Given the description of an element on the screen output the (x, y) to click on. 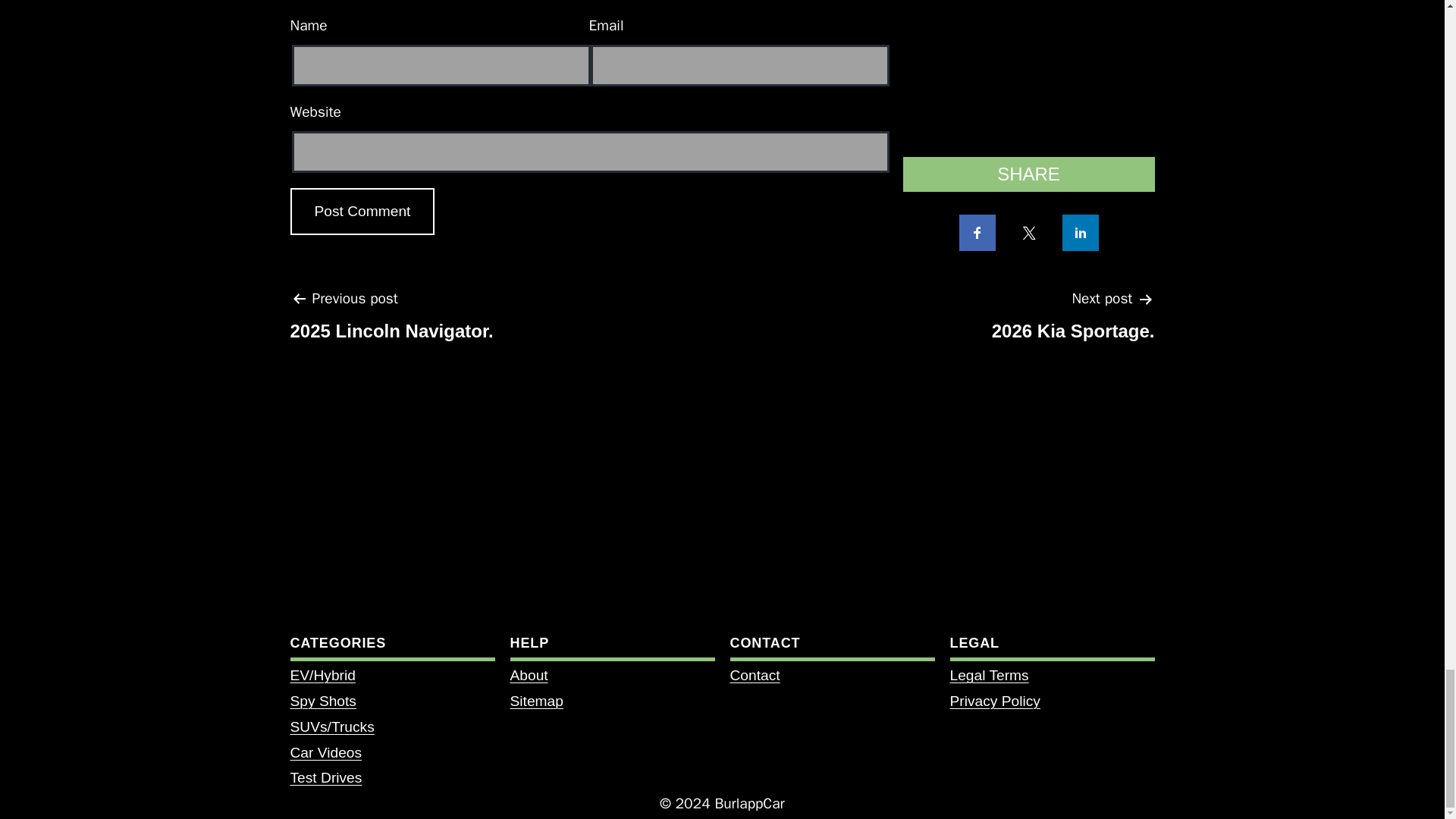
Spy Shots (322, 700)
Car Videos (325, 752)
Car Videos (325, 752)
Post Comment (361, 211)
Spy Shots (391, 320)
Post Comment (322, 700)
Test Drives (361, 211)
